Given the description of an element on the screen output the (x, y) to click on. 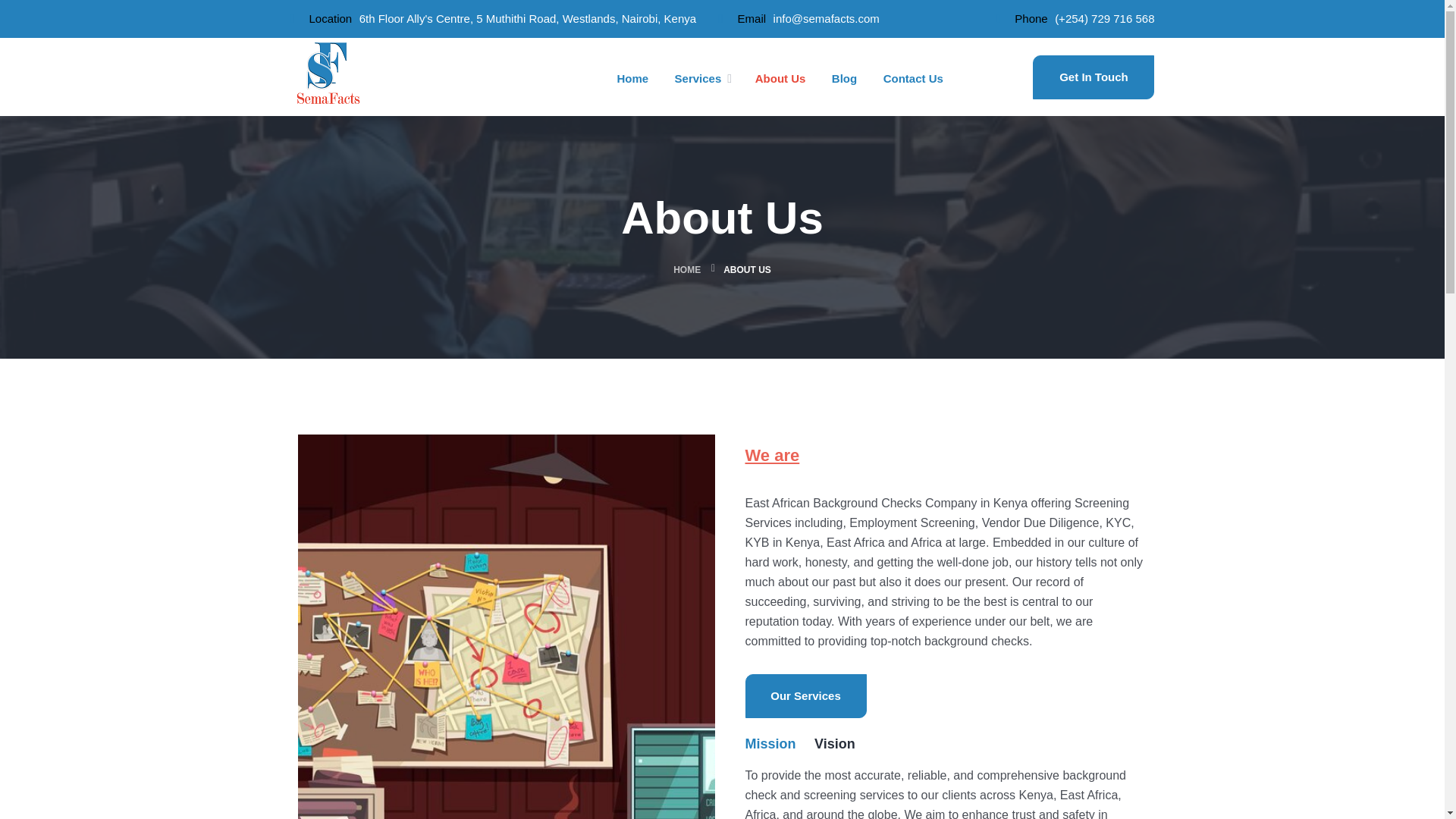
Home (631, 77)
Mission (769, 748)
Vision (834, 746)
Contact Us (913, 77)
Get In Touch (1093, 76)
Services (698, 77)
Blog (844, 77)
About Us (780, 77)
HOME (686, 269)
Our Services (805, 695)
